Given the description of an element on the screen output the (x, y) to click on. 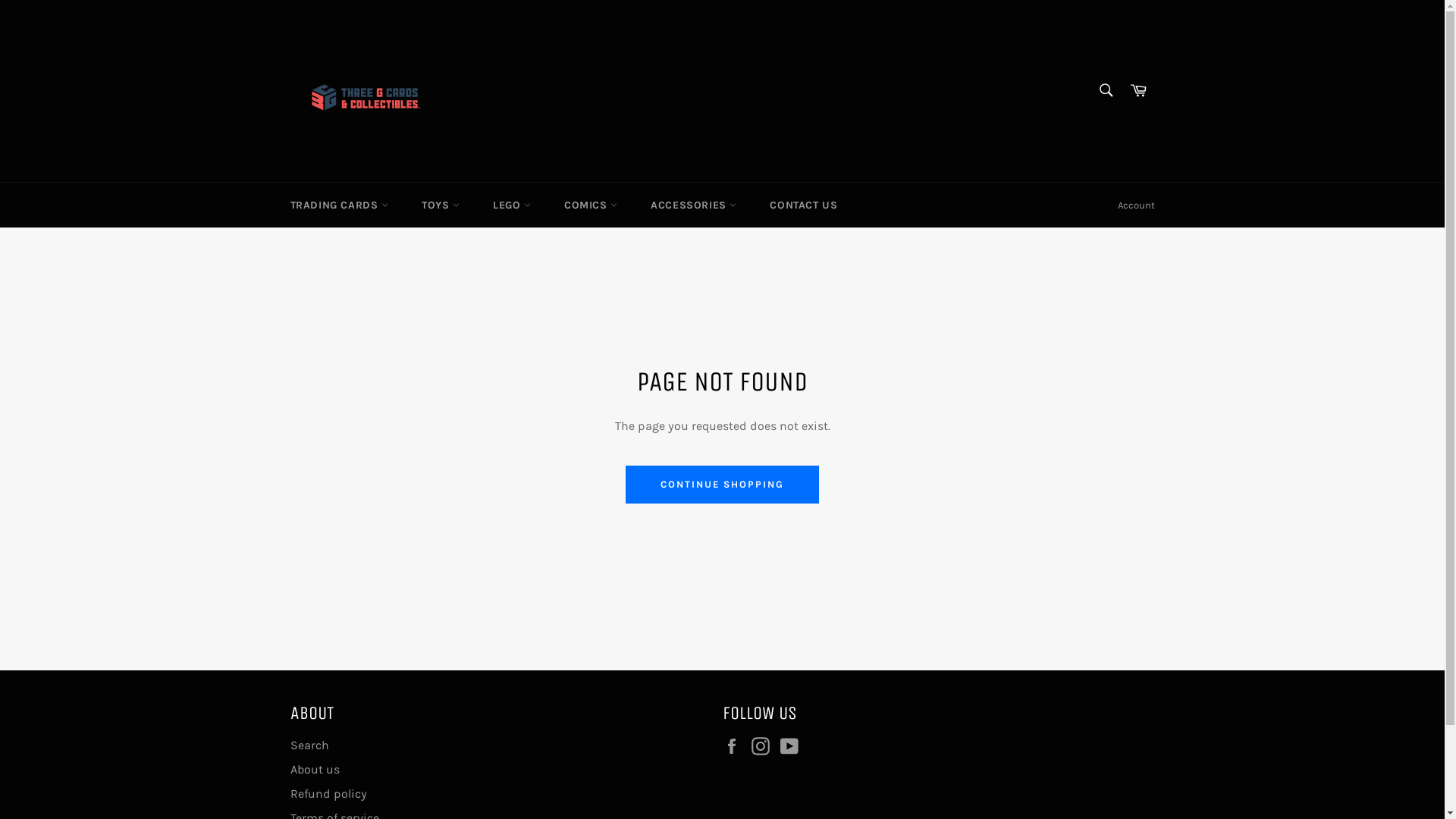
COMICS Element type: text (590, 204)
Facebook Element type: text (734, 746)
TRADING CARDS Element type: text (338, 204)
Cart Element type: text (1138, 91)
Search Element type: text (308, 744)
CONTACT US Element type: text (803, 204)
TOYS Element type: text (440, 204)
CONTINUE SHOPPING Element type: text (722, 484)
Refund policy Element type: text (327, 793)
Instagram Element type: text (763, 746)
Account Element type: text (1136, 205)
Search Element type: text (1105, 90)
LEGO Element type: text (511, 204)
ACCESSORIES Element type: text (693, 204)
YouTube Element type: text (792, 746)
About us Element type: text (313, 769)
